Given the description of an element on the screen output the (x, y) to click on. 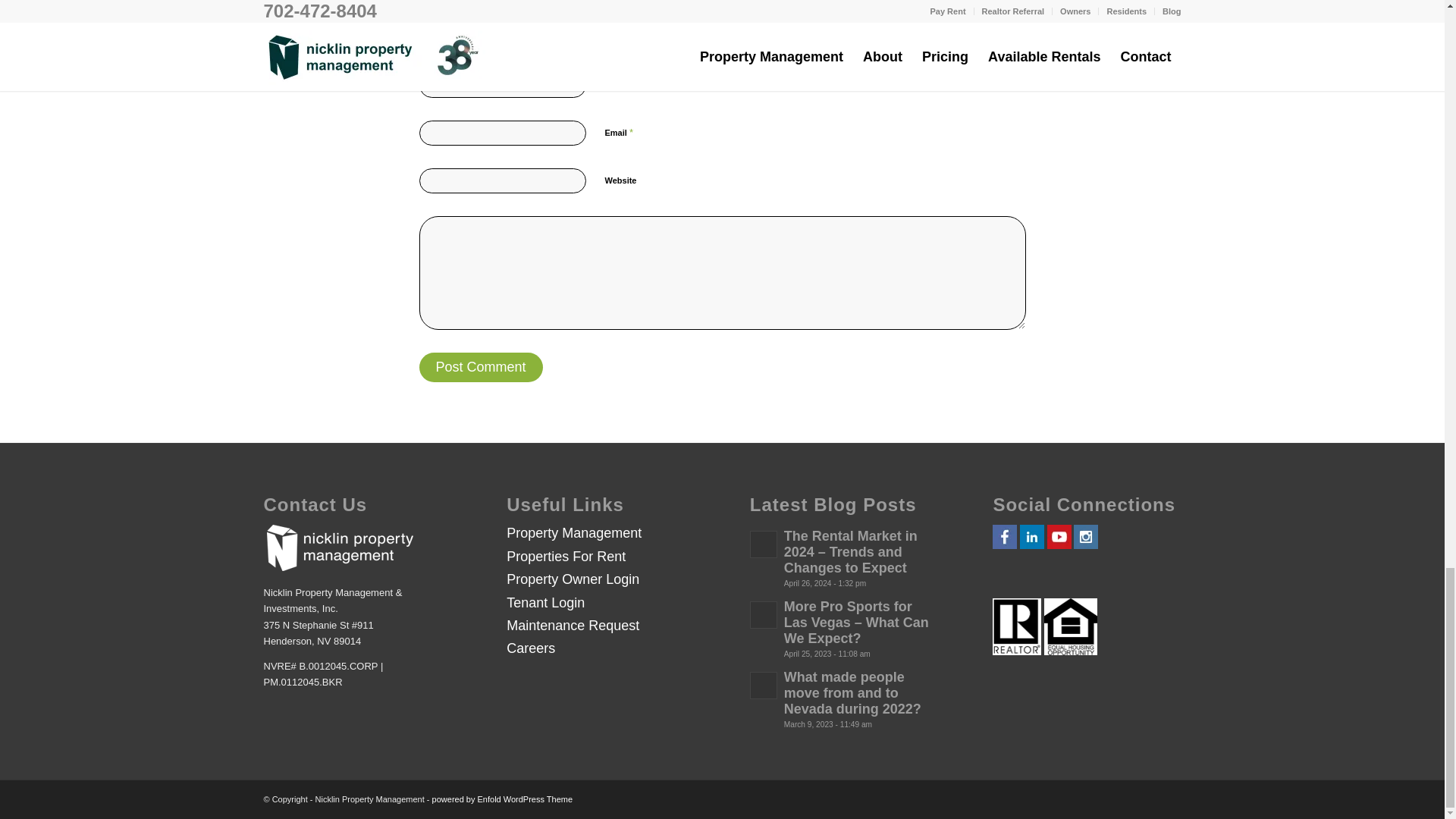
Read: What made people move from and to Nevada during 2022? (852, 692)
Read: What made people move from and to Nevada during 2022? (763, 685)
Post Comment (480, 367)
